Given the description of an element on the screen output the (x, y) to click on. 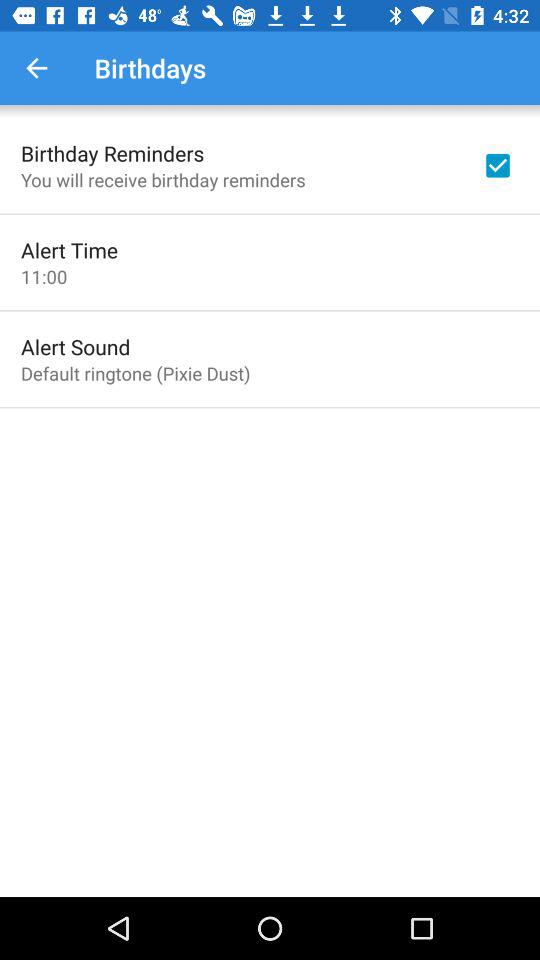
tap the item next to the birthdays (36, 68)
